Given the description of an element on the screen output the (x, y) to click on. 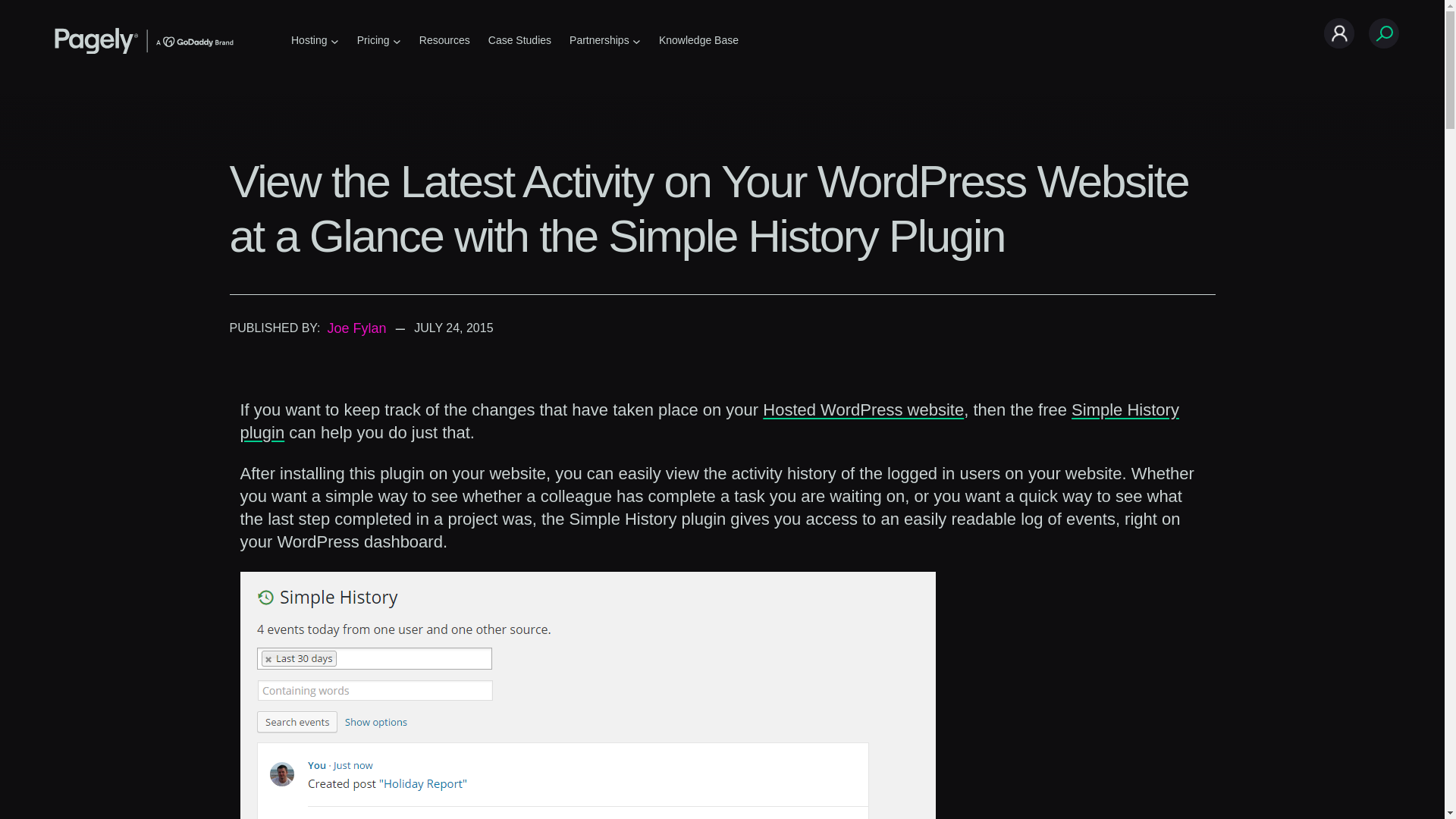
Pricing (373, 40)
Partnerships (598, 40)
Hosting (308, 40)
Pricing (373, 40)
Knowledge Base (698, 40)
Resources (444, 40)
Case Studies (519, 40)
Case Studies (519, 40)
solutions (308, 40)
Resources (444, 40)
